Given the description of an element on the screen output the (x, y) to click on. 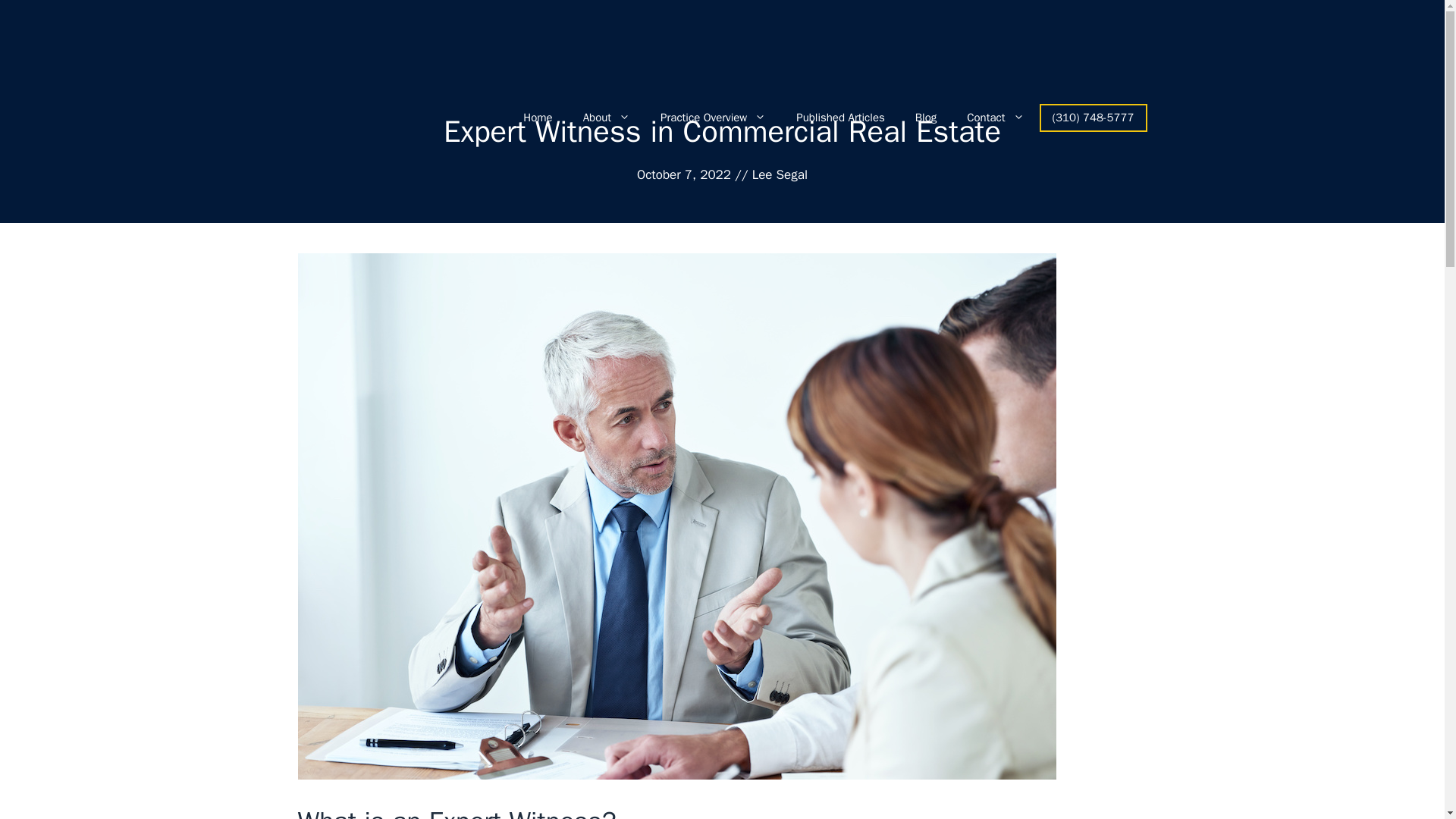
About (606, 117)
Contact (995, 117)
Published Articles (839, 117)
Home (537, 117)
Practice Overview (712, 117)
Blog (925, 117)
